Given the description of an element on the screen output the (x, y) to click on. 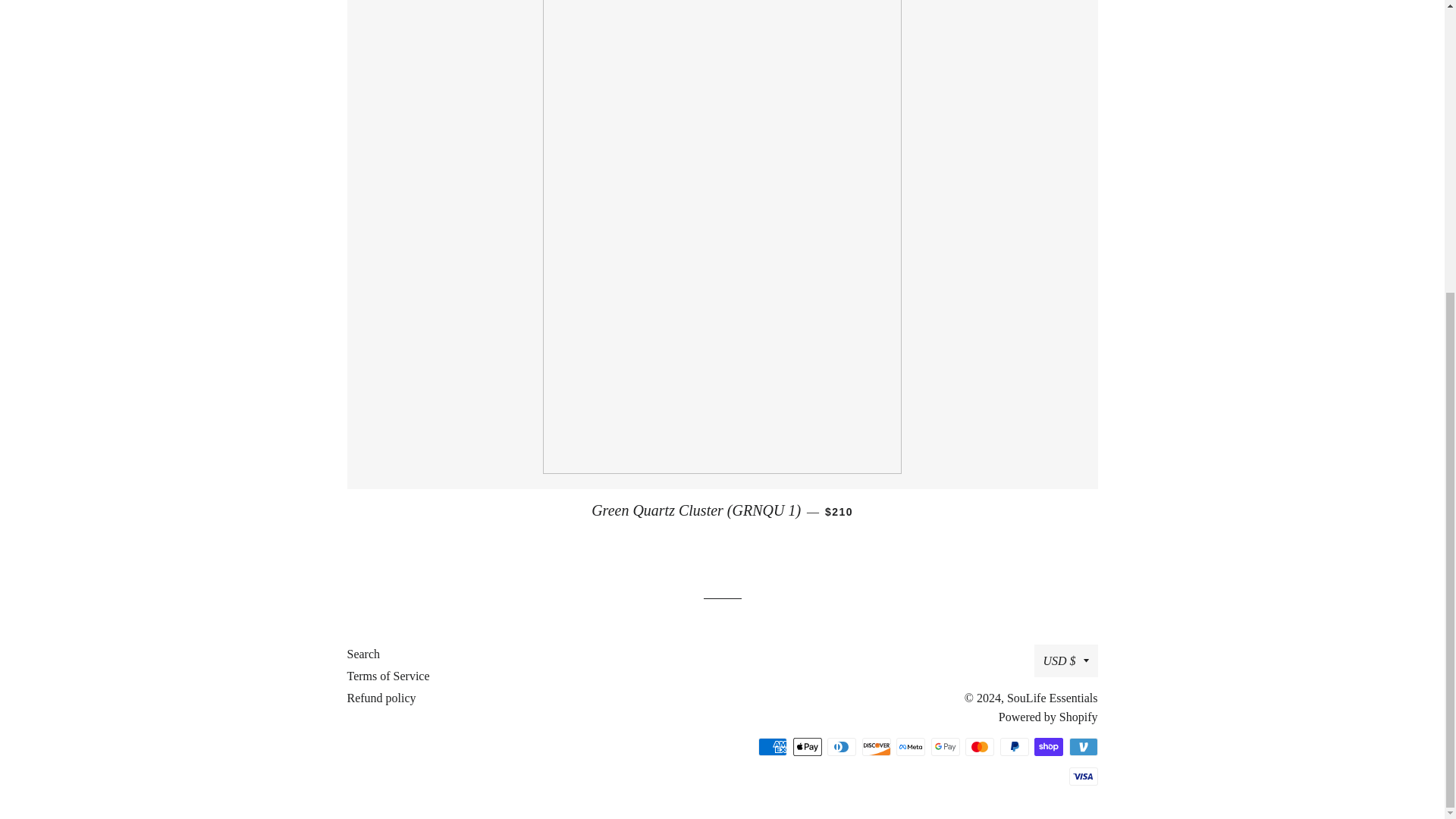
Shop Pay (1047, 746)
Search (363, 653)
Google Pay (945, 746)
Refund policy (381, 697)
Terms of Service (388, 675)
Venmo (1082, 746)
PayPal (1012, 746)
Mastercard (979, 746)
Visa (1082, 776)
Apple Pay (807, 746)
